Given the description of an element on the screen output the (x, y) to click on. 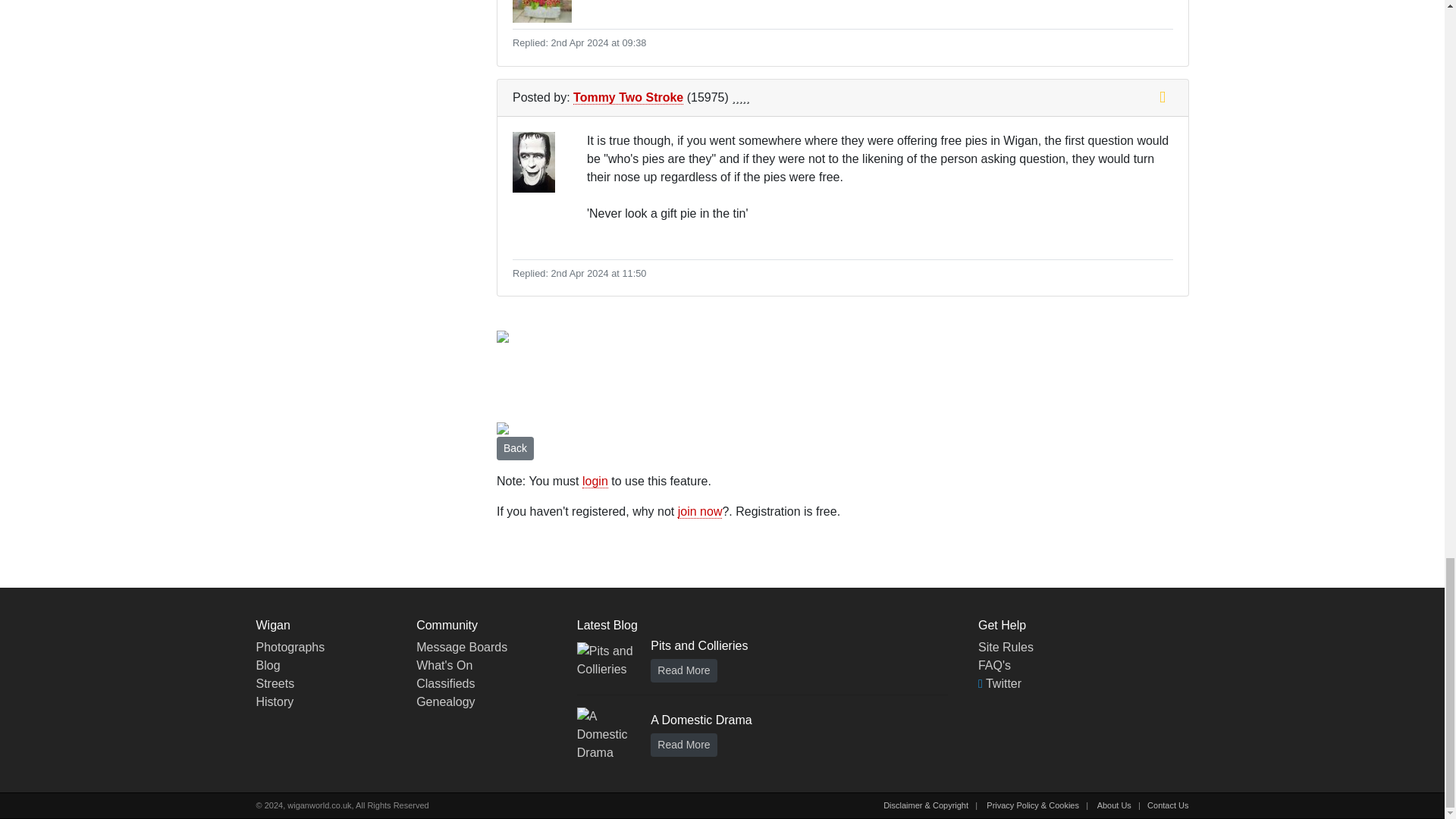
Tommy Two Stroke (627, 97)
Advertisement (772, 378)
